Given the description of an element on the screen output the (x, y) to click on. 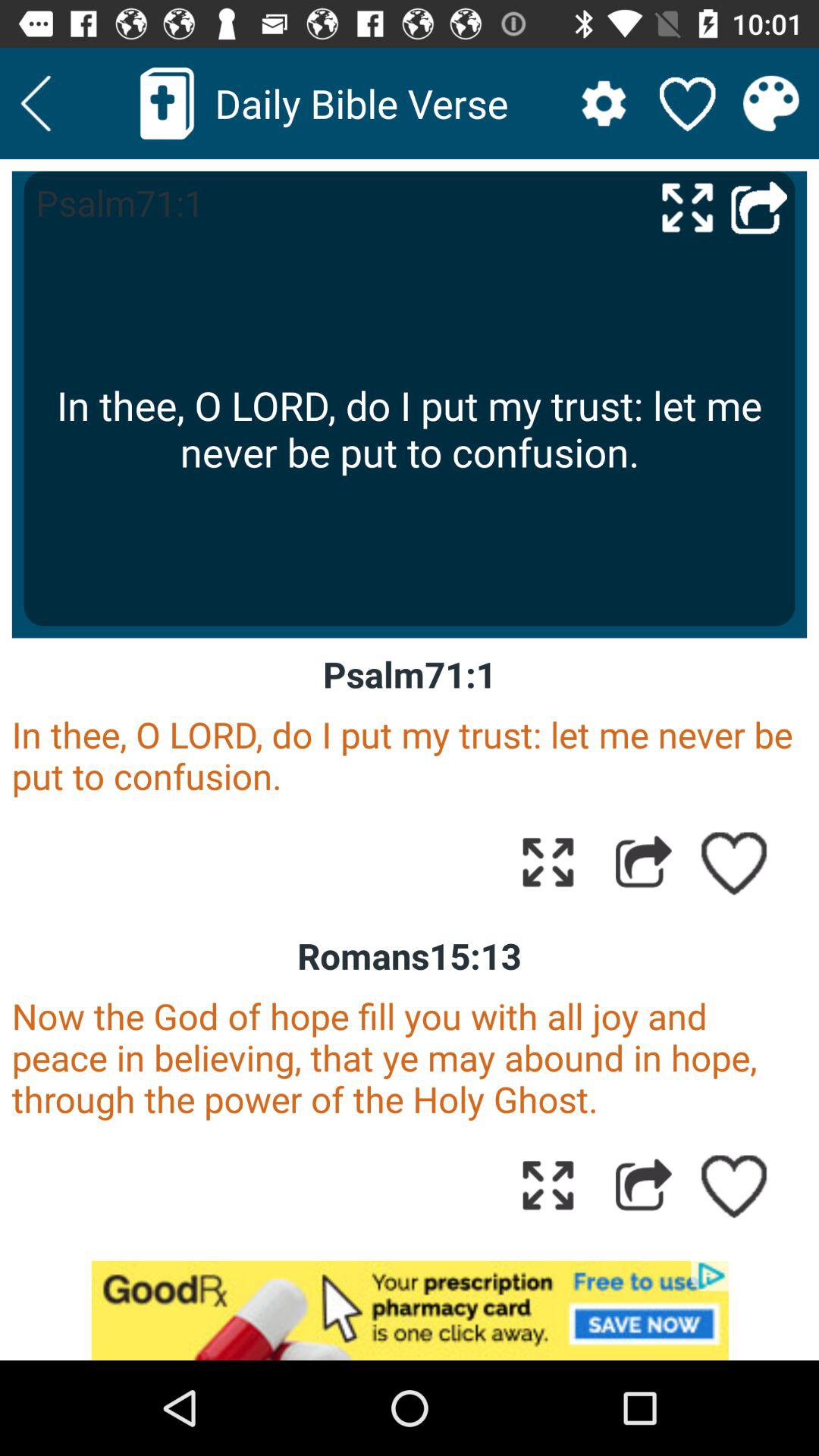
icon page (548, 861)
